Given the description of an element on the screen output the (x, y) to click on. 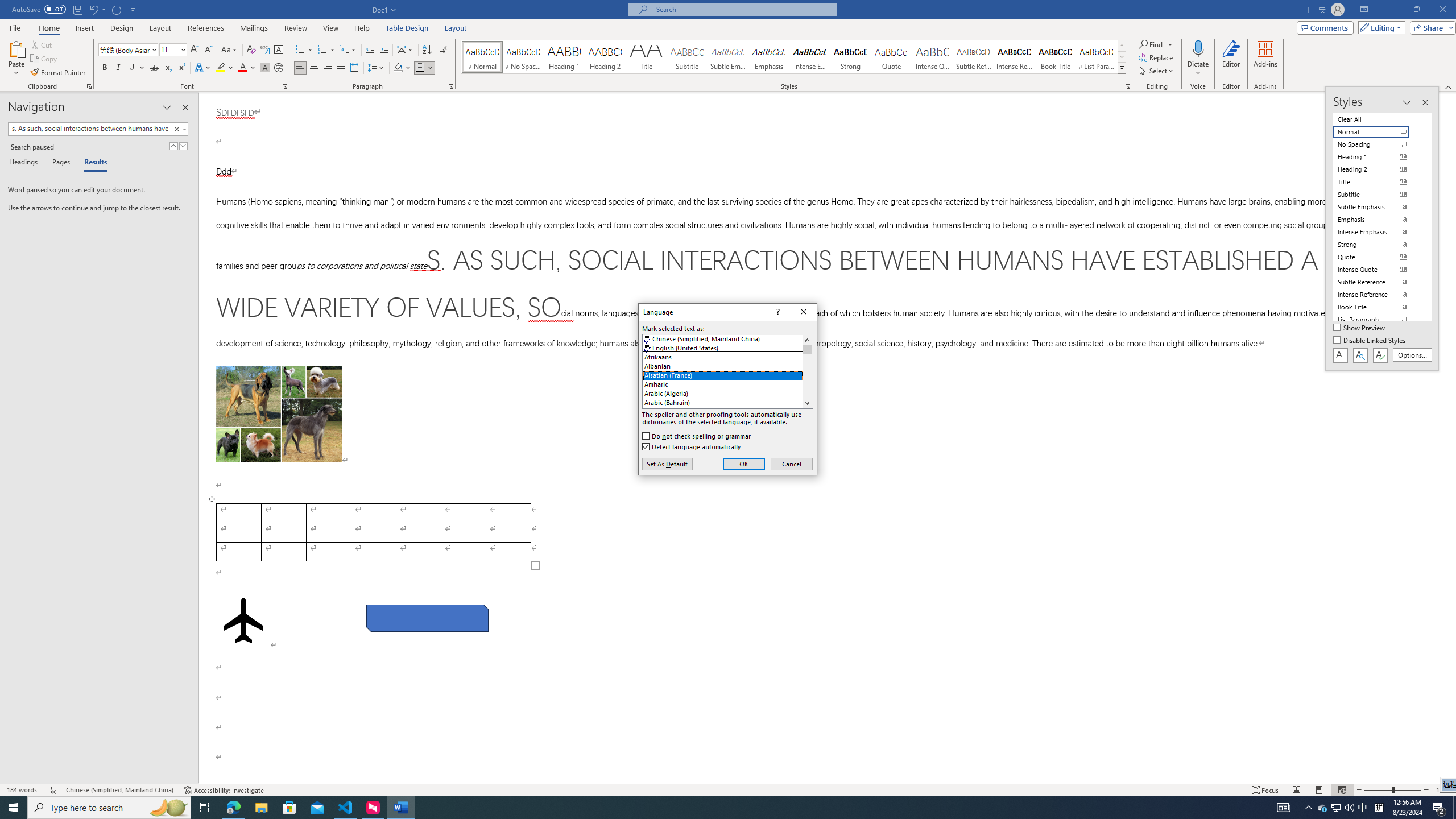
File Tab (15, 27)
Zoom (1392, 790)
Customize Quick Access Toolbar (133, 9)
Change Case (229, 49)
Shrink Font (208, 49)
Clear All (1377, 119)
Text Highlight Color Yellow (220, 67)
Task View (204, 807)
Increase Indent (383, 49)
Row up (1121, 45)
Borders (424, 67)
Subtle Emphasis (727, 56)
Multilevel List (347, 49)
System (6, 6)
